Given the description of an element on the screen output the (x, y) to click on. 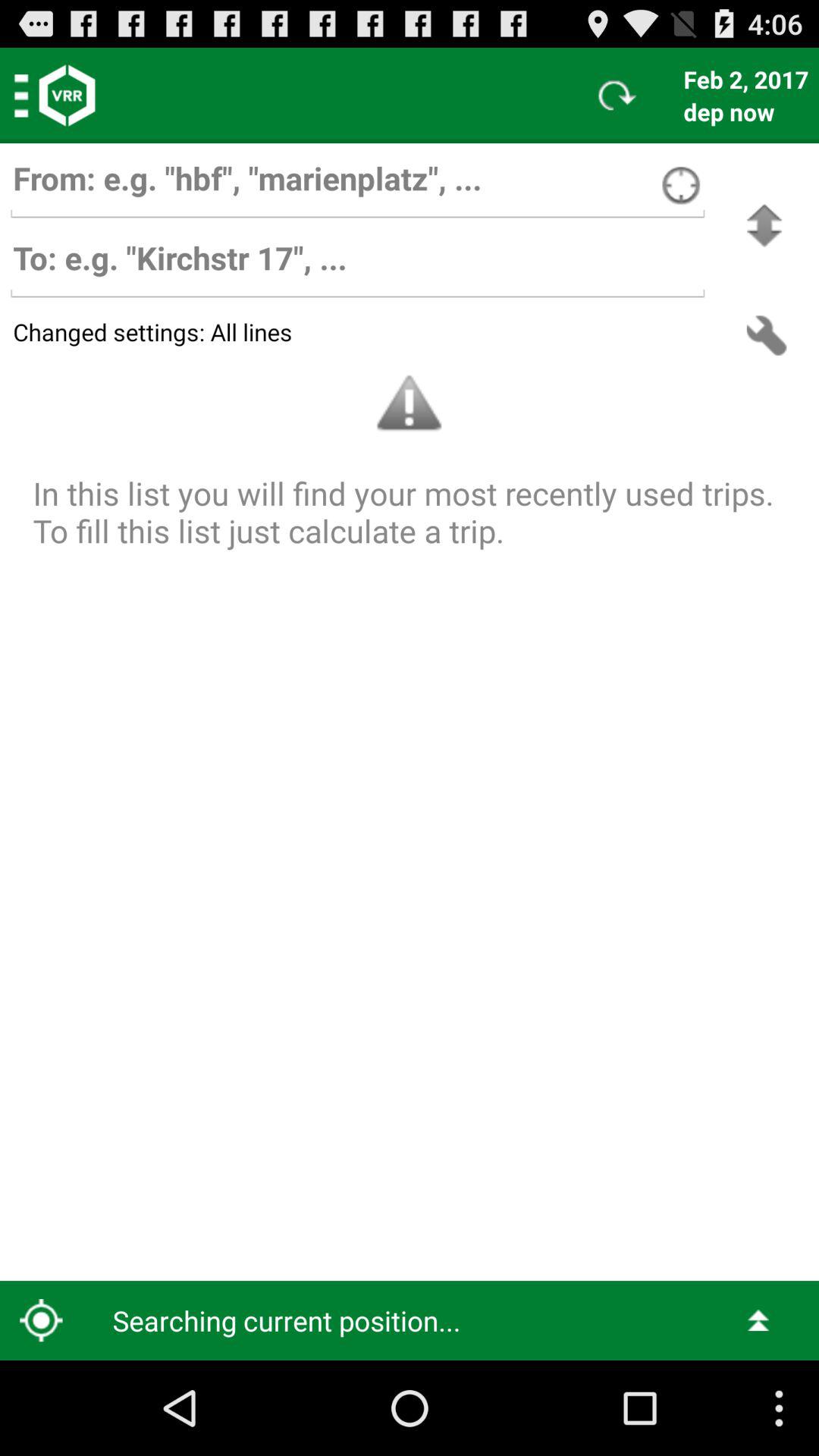
the sender (357, 185)
